Given the description of an element on the screen output the (x, y) to click on. 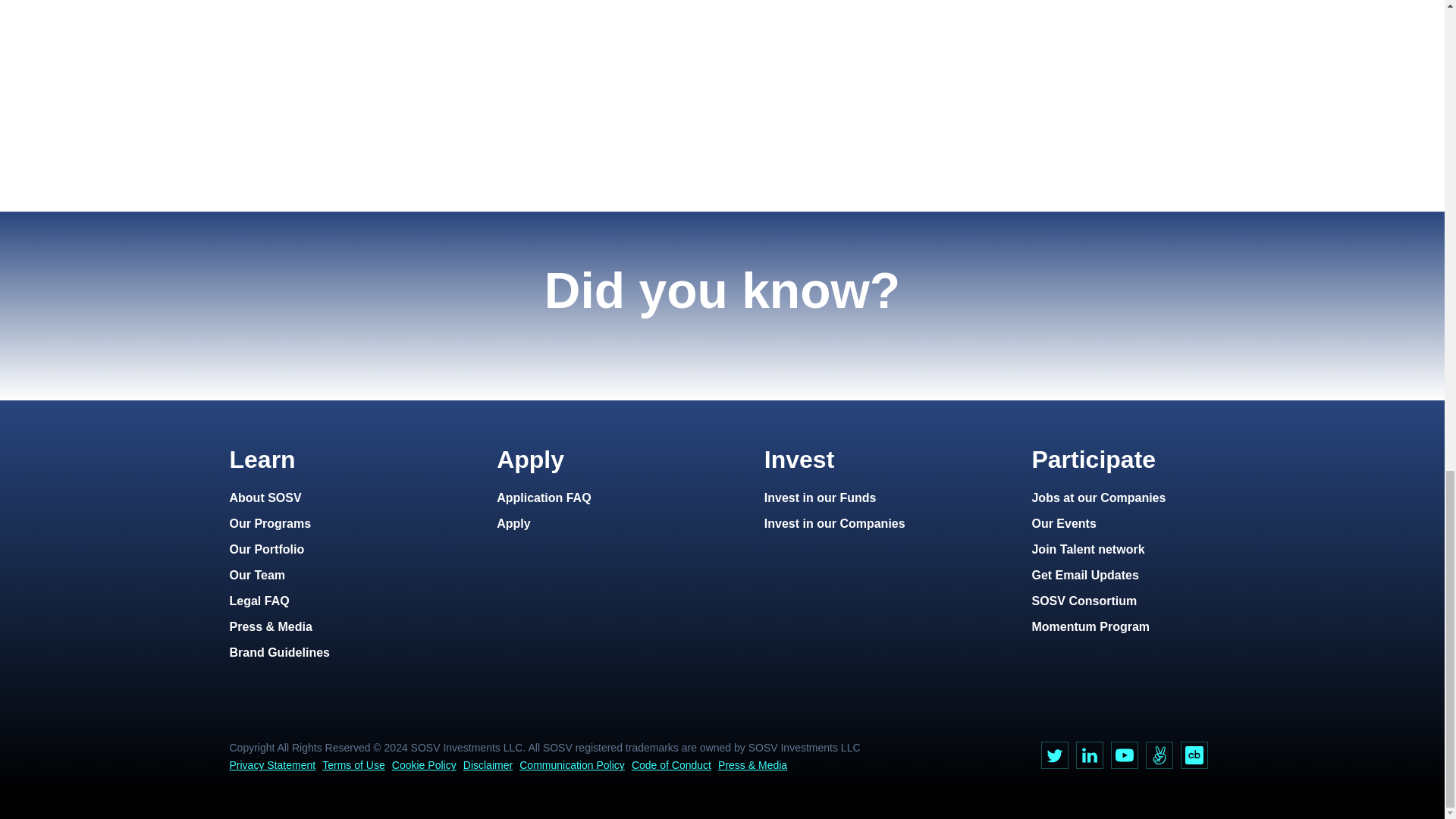
Brand Guidelines (278, 652)
Our Team (256, 574)
Our Portfolio (266, 549)
About SOSV (264, 497)
Our Programs (269, 522)
Learn (261, 459)
Legal FAQ (258, 600)
